Given the description of an element on the screen output the (x, y) to click on. 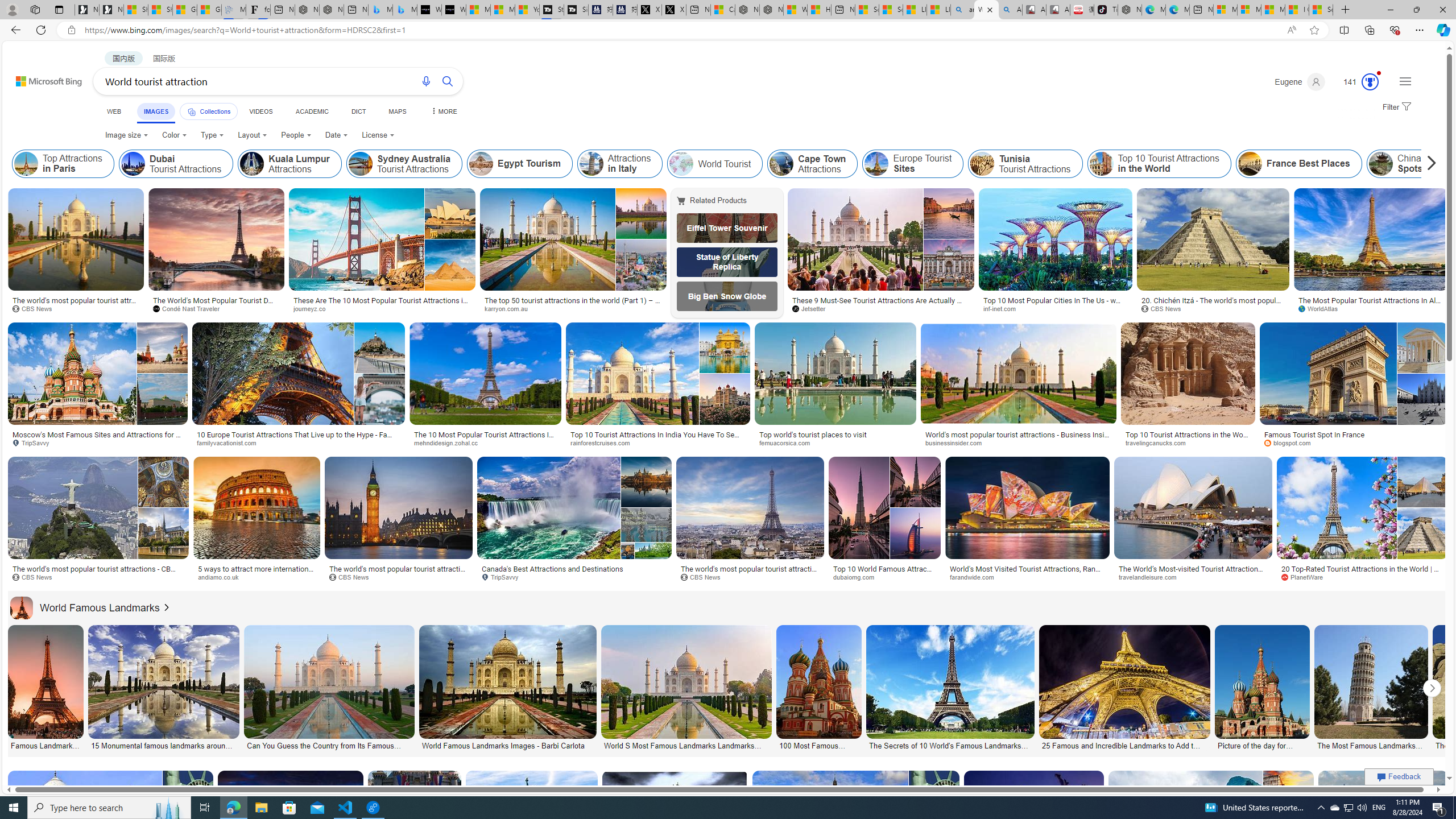
Cape Town Attractions (781, 163)
WEB (114, 111)
blogspot.com (1352, 442)
Big Ben Snow Globe (727, 296)
